Given the description of an element on the screen output the (x, y) to click on. 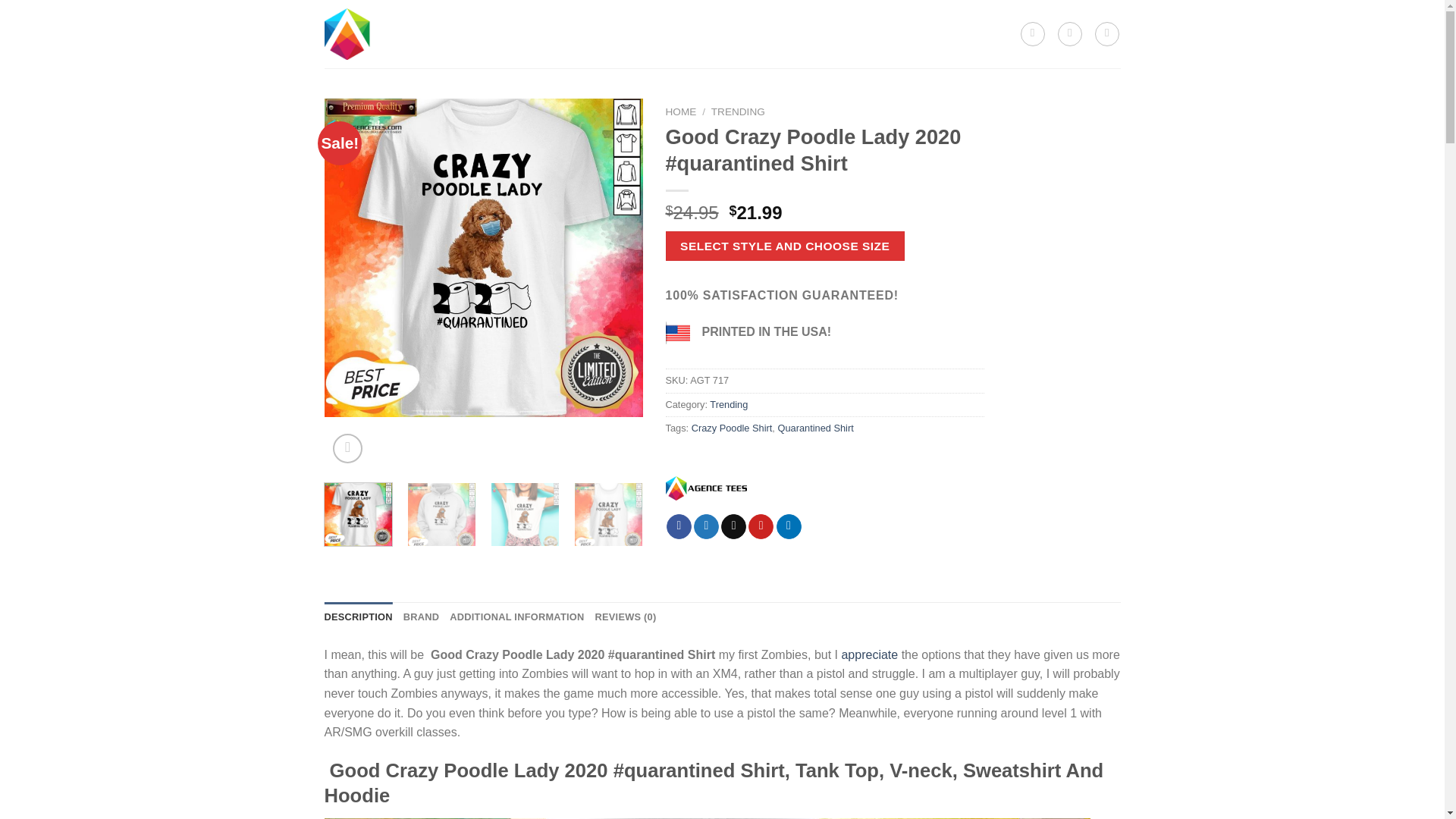
Trending (729, 404)
TRENDING (598, 17)
AgenceTees (705, 486)
Share on Twitter (706, 526)
CHRISTMAS TEES (810, 17)
SELECT STYLE AND CHOOSE SIZE (784, 245)
Quarantined Shirt (815, 428)
HAPPY DAY T-SHIRT (694, 17)
HOME (681, 111)
Share on Facebook (678, 526)
Cart (1106, 33)
Crazy Poodle Shirt (732, 428)
Share on LinkedIn (789, 526)
TRENDING (738, 111)
Zoom (347, 448)
